Given the description of an element on the screen output the (x, y) to click on. 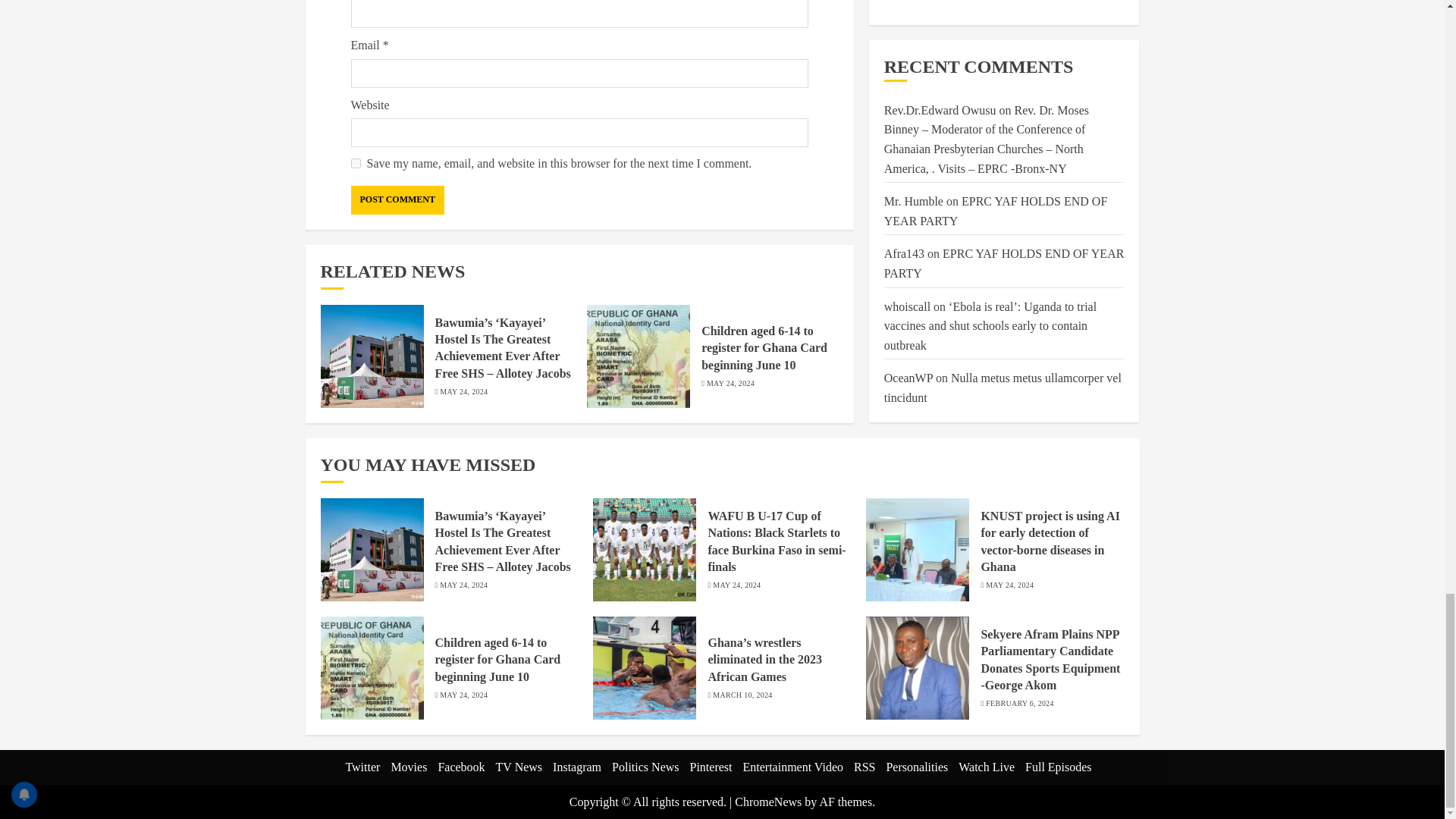
Post Comment (397, 199)
yes (354, 163)
